Given the description of an element on the screen output the (x, y) to click on. 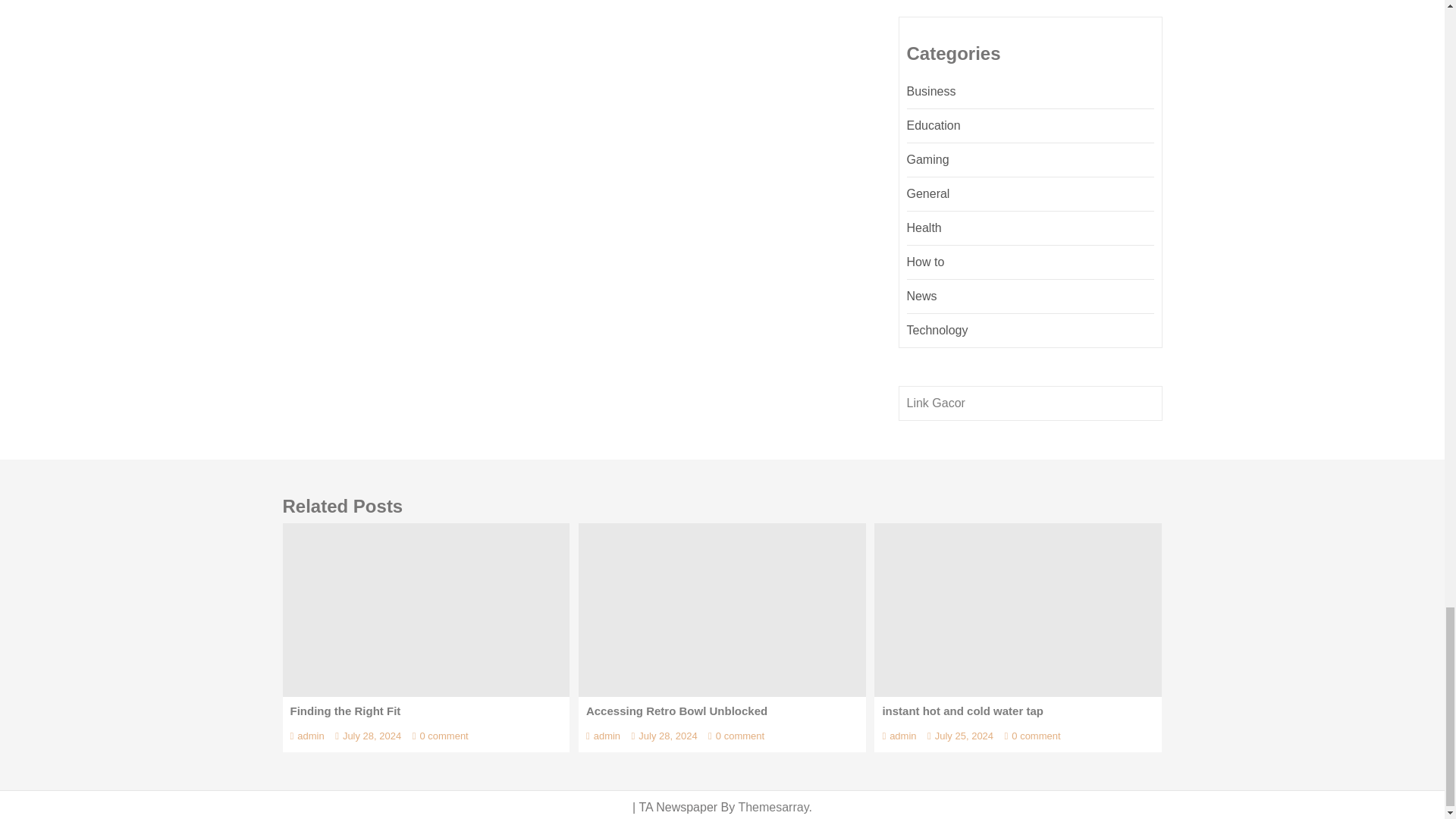
instant hot and cold water tap (1018, 609)
Accessing Retro Bowl Unblocked (722, 609)
Finding the Right Fit (425, 609)
